Given the description of an element on the screen output the (x, y) to click on. 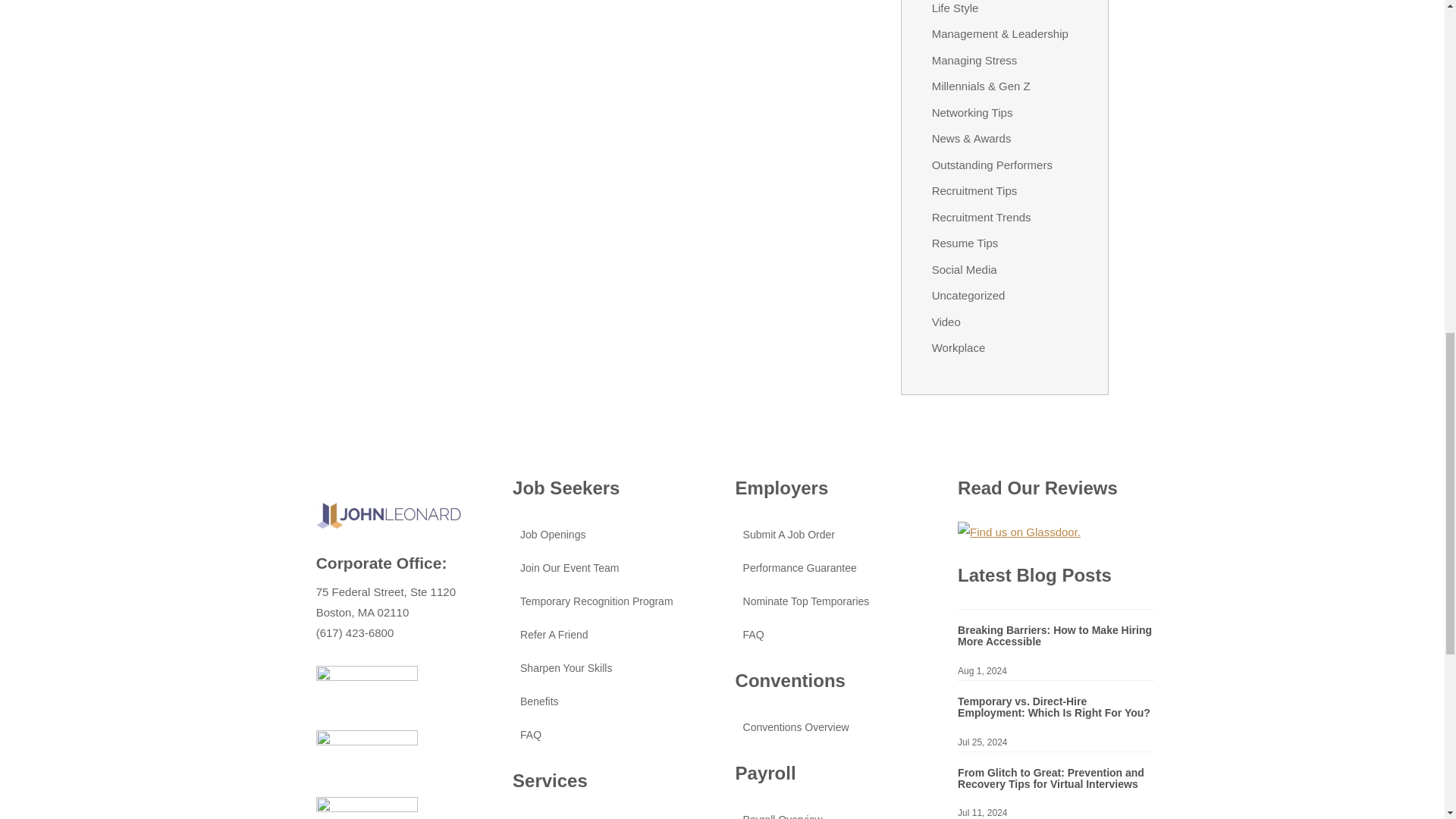
logo header (388, 514)
footer-sdo (366, 756)
